Given the description of an element on the screen output the (x, y) to click on. 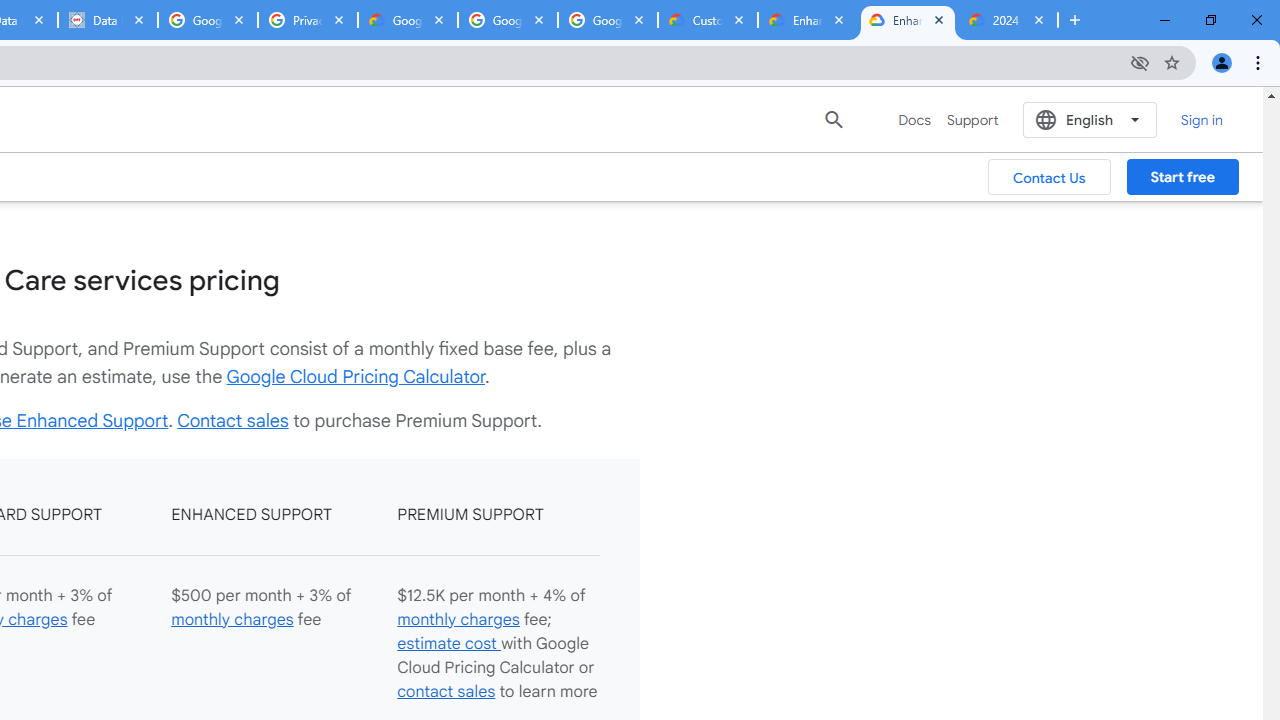
Chrome (1260, 62)
Contact sales (232, 420)
Media CDN (465, 117)
Support (972, 119)
Google Cloud Pricing Calculator (356, 376)
Google Workspace - Specific Terms (607, 20)
You (1221, 62)
Close (1039, 19)
Bookmark this tab (1171, 62)
Restore (1210, 20)
